Given the description of an element on the screen output the (x, y) to click on. 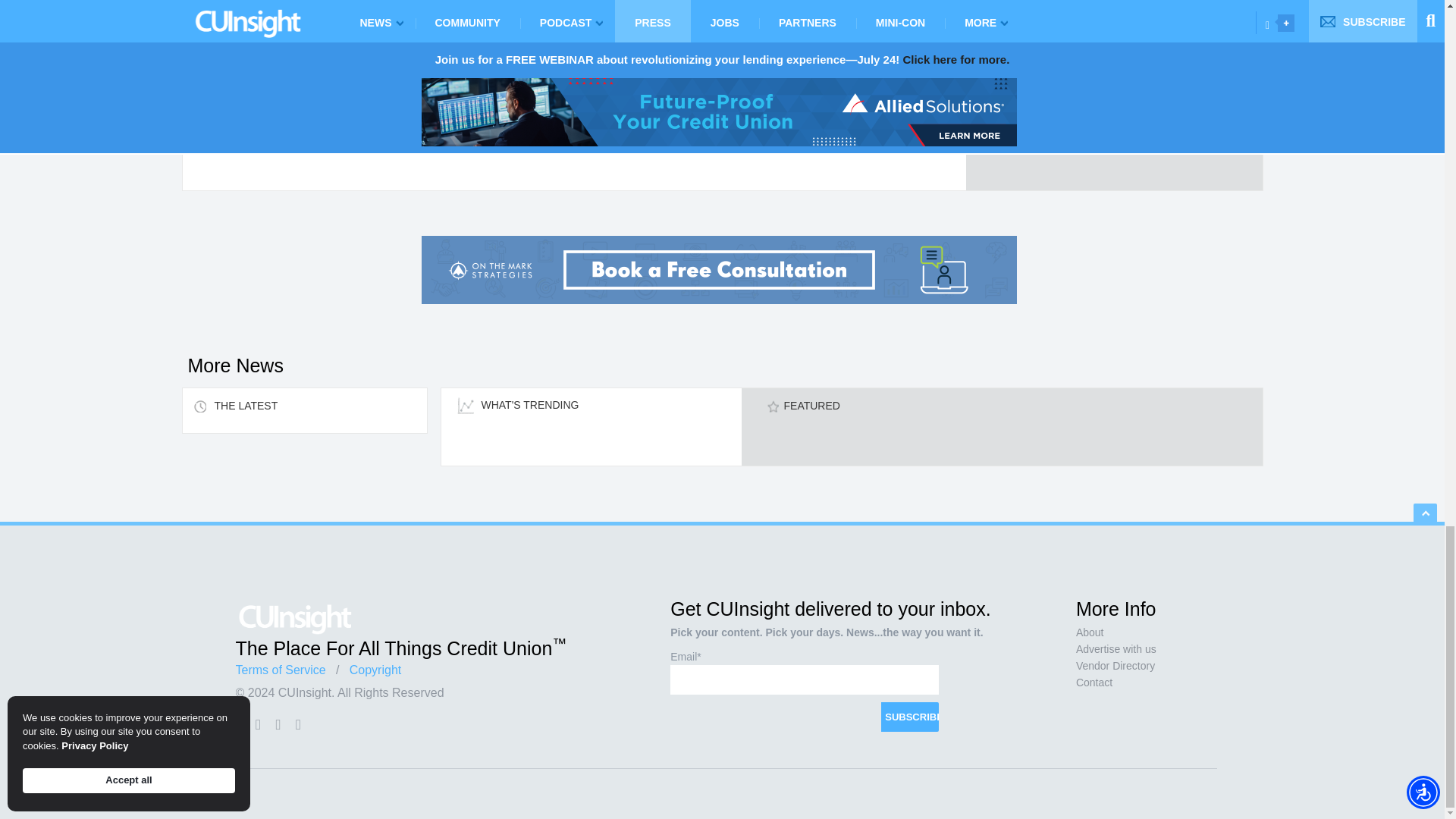
Subscribe (909, 716)
